Given the description of an element on the screen output the (x, y) to click on. 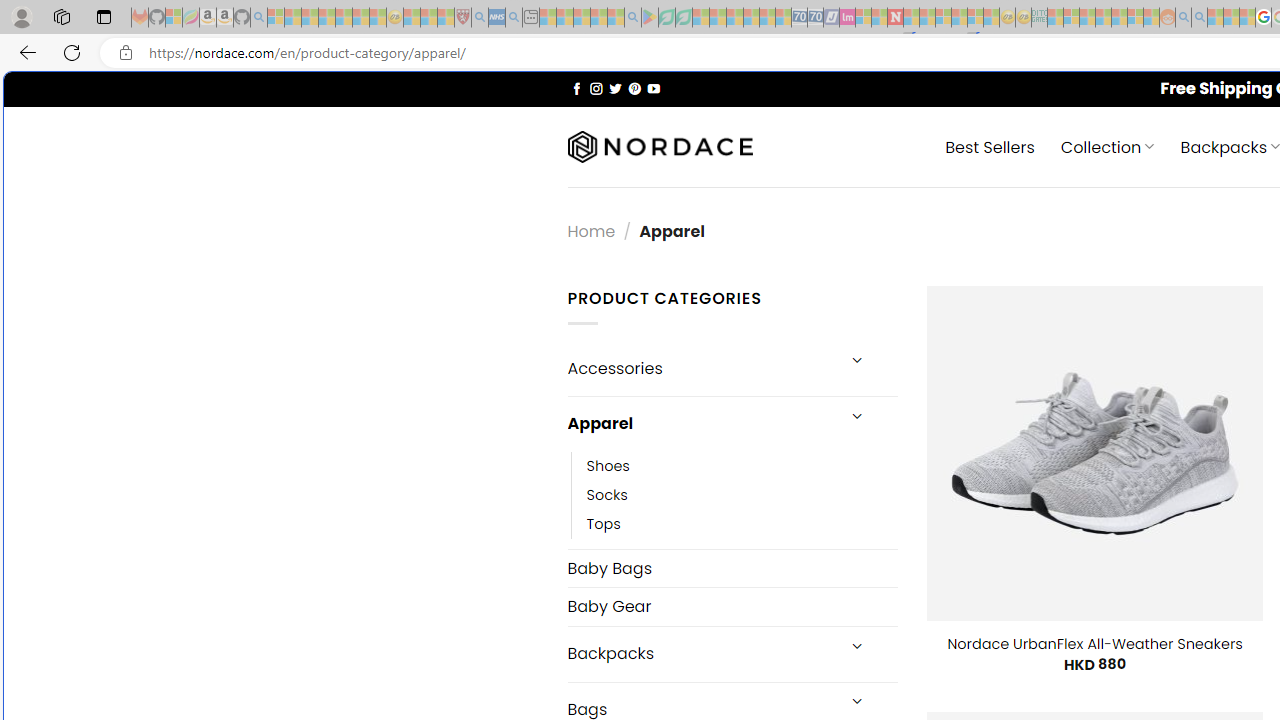
New Report Confirms 2023 Was Record Hot | Watch - Sleeping (343, 17)
 Best Sellers (989, 146)
Terms of Use Agreement - Sleeping (666, 17)
Accessories (700, 368)
DITOGAMES AG Imprint - Sleeping (1039, 17)
Follow on Pinterest (634, 88)
